Given the description of an element on the screen output the (x, y) to click on. 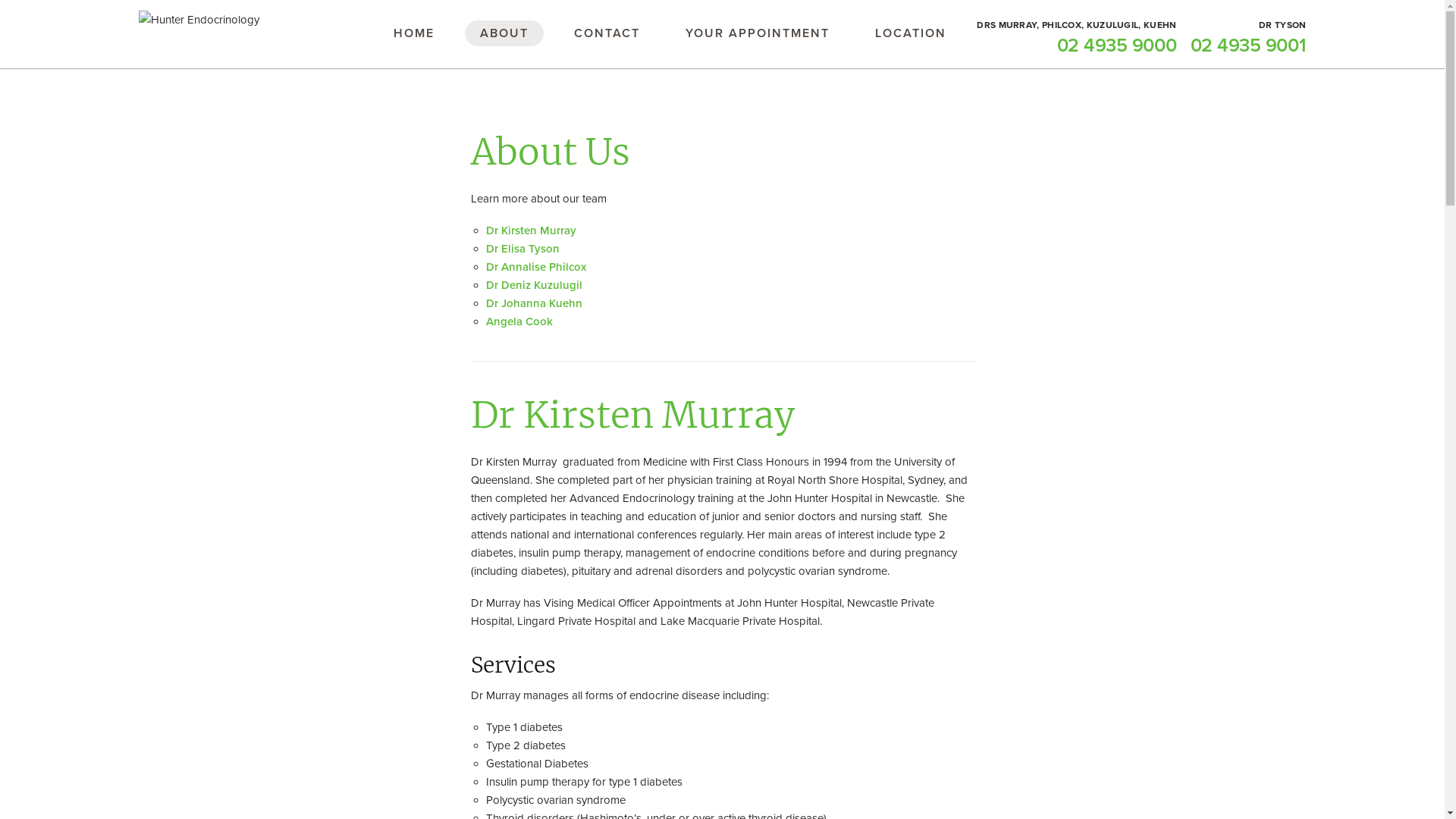
Dr Annalise Philcox Element type: text (535, 266)
DRS MURRAY, PHILCOX, KUZULUGIL, KUEHN
02 4935 9000 Element type: text (1076, 37)
Angela Cook Element type: text (518, 321)
Dr Kirsten Murray Element type: text (530, 230)
Dr Elisa Tyson Element type: text (521, 248)
LOCATION Element type: text (910, 33)
Dr Deniz Kuzulugil Element type: text (533, 284)
YOUR APPOINTMENT Element type: text (757, 33)
CONTACT Element type: text (606, 33)
Dr Johanna Kuehn Element type: text (533, 303)
HOME Element type: text (412, 33)
ABOUT Element type: text (503, 33)
DR TYSON
02 4935 9001 Element type: text (1248, 37)
